Given the description of an element on the screen output the (x, y) to click on. 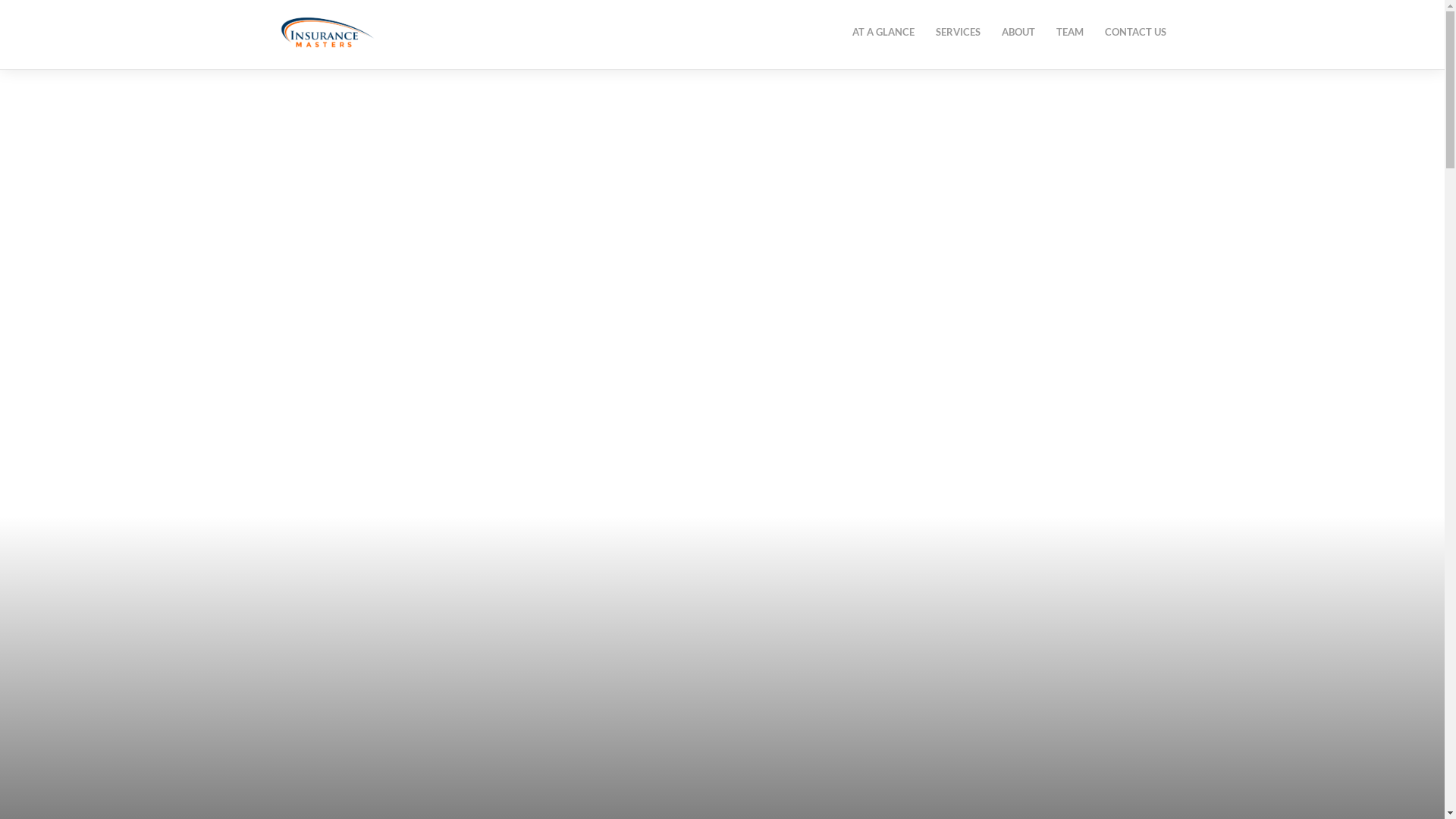
SERVICES Element type: text (957, 31)
AT A GLANCE Element type: text (883, 31)
ABOUT Element type: text (1017, 31)
TEAM Element type: text (1068, 31)
CONTACT US Element type: text (1134, 31)
